Given the description of an element on the screen output the (x, y) to click on. 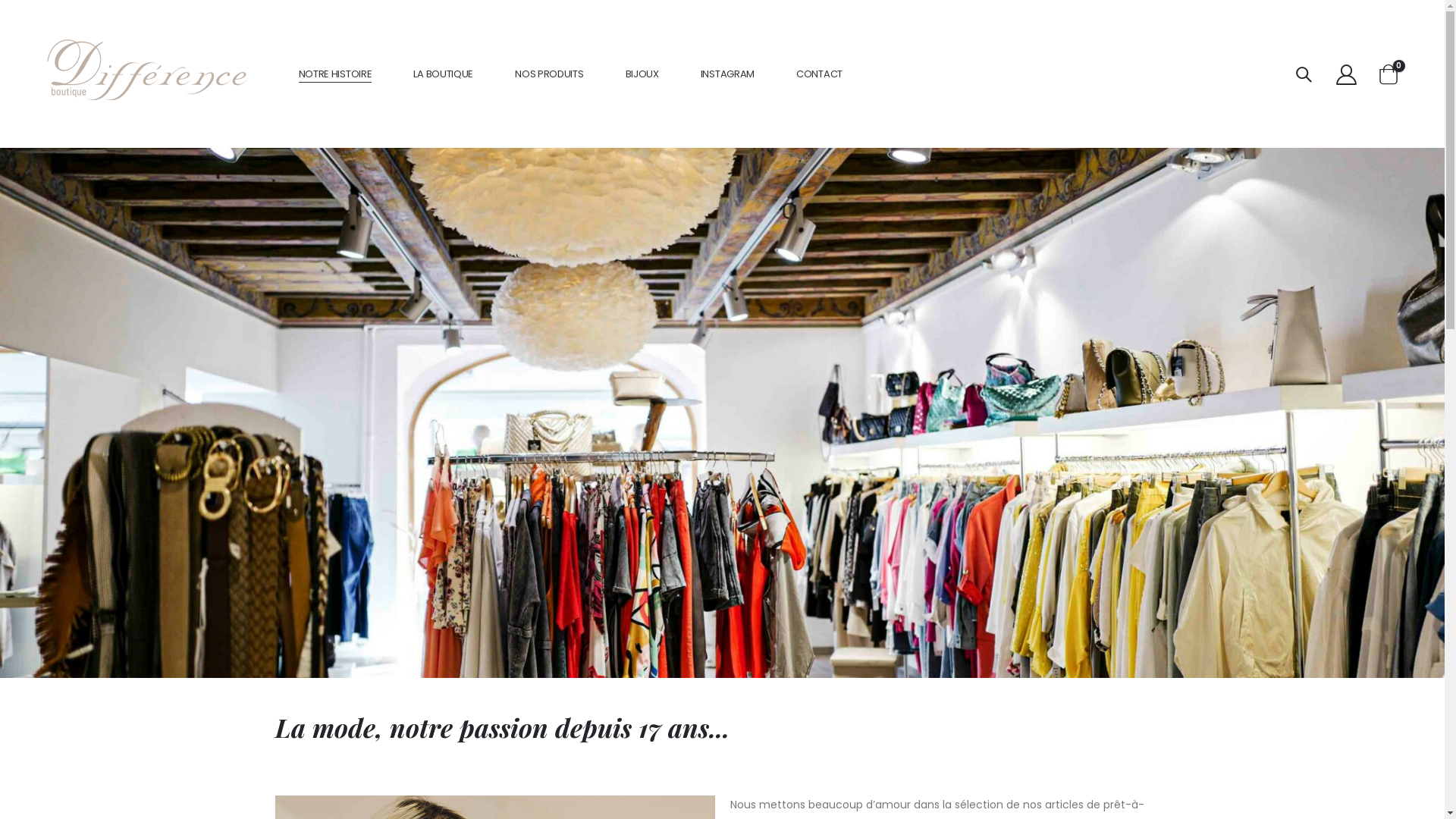
NOS PRODUITS Element type: text (548, 74)
My Account Element type: hover (1345, 73)
BIJOUX Element type: text (642, 74)
INSTAGRAM Element type: text (727, 74)
NOTRE HISTOIRE Element type: text (335, 74)
CONTACT Element type: text (818, 74)
LA BOUTIQUE Element type: text (442, 74)
